Given the description of an element on the screen output the (x, y) to click on. 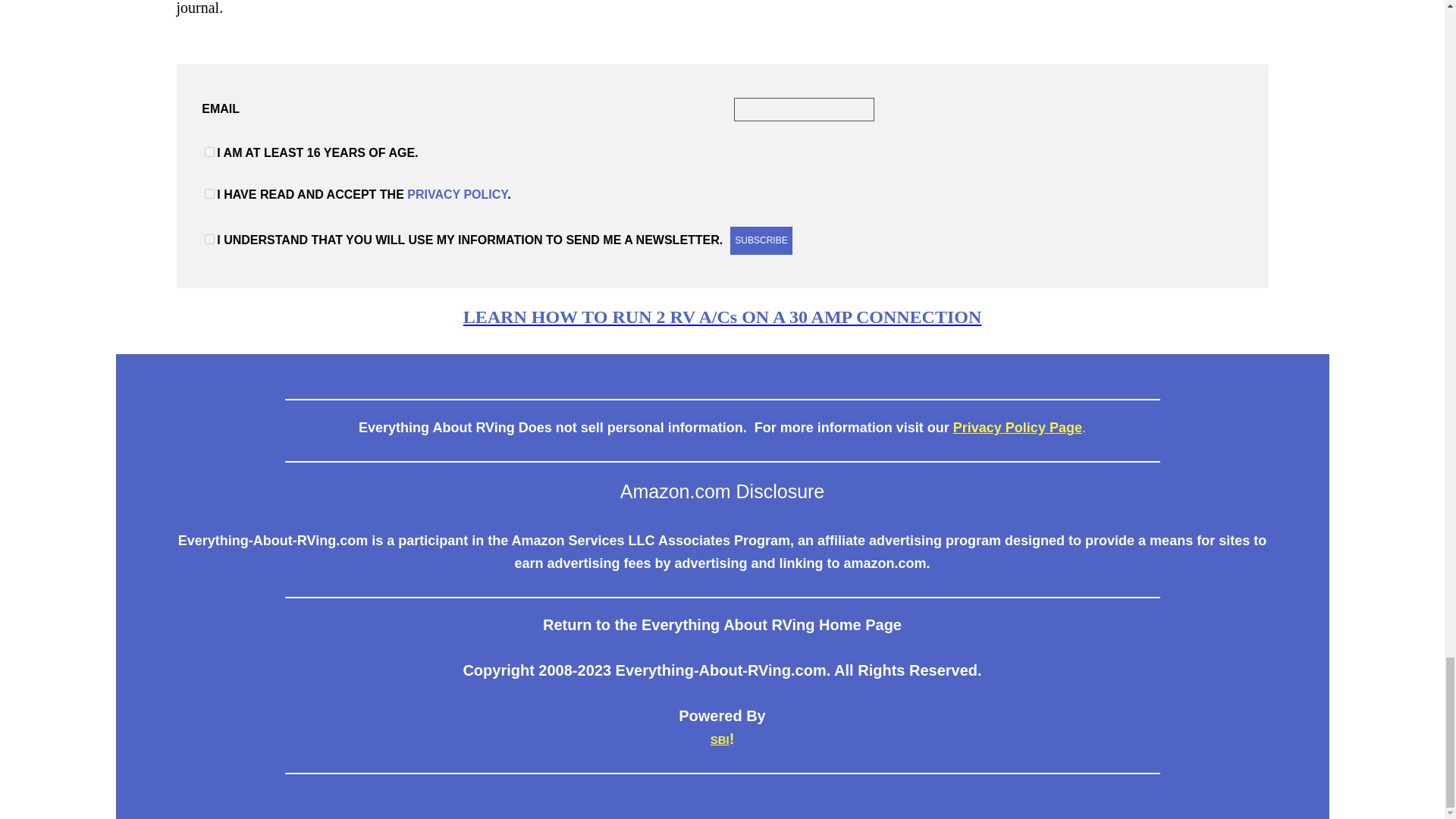
on (209, 194)
on (209, 152)
on (209, 239)
